Given the description of an element on the screen output the (x, y) to click on. 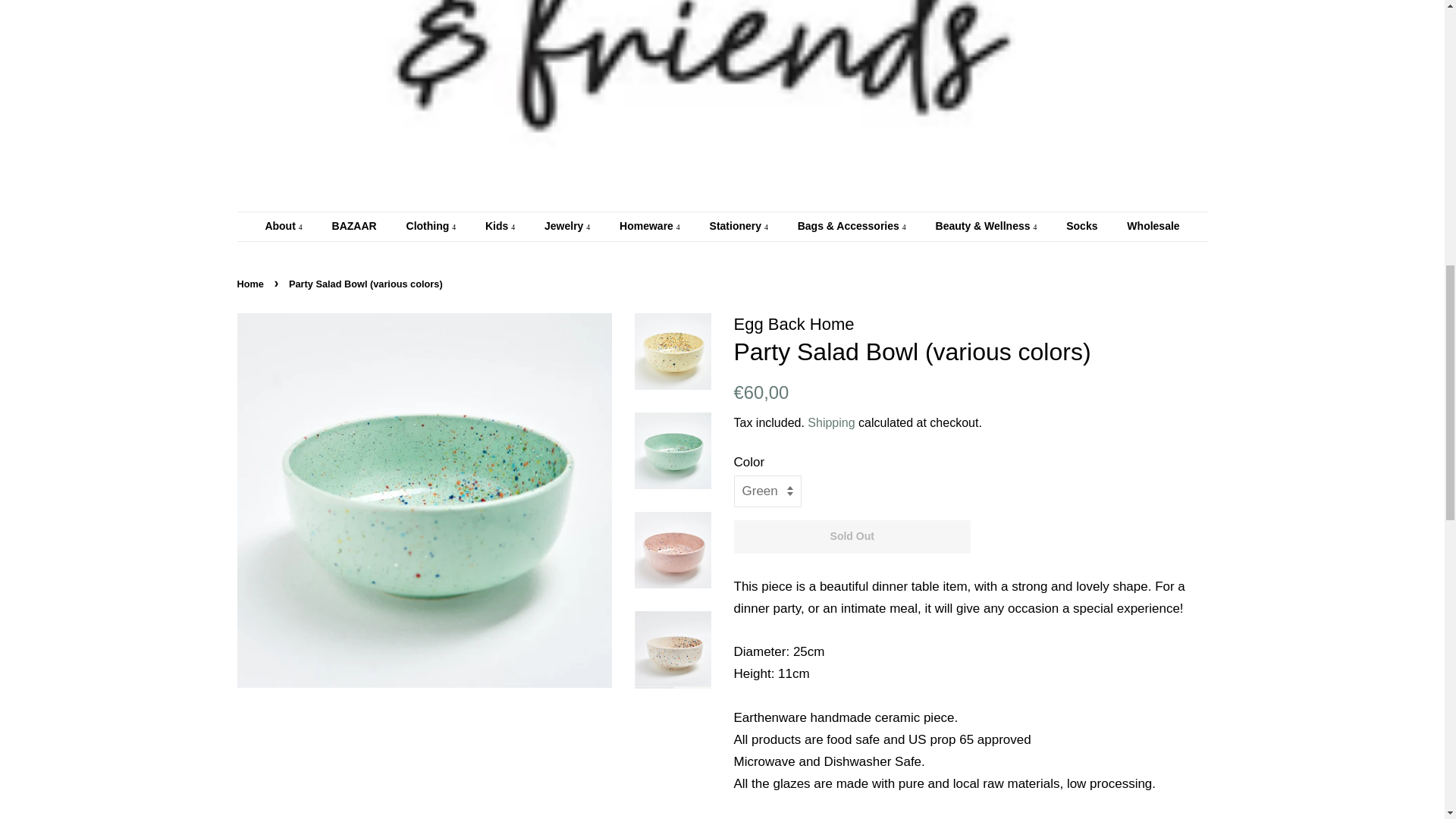
Back to the frontpage (250, 283)
